Given the description of an element on the screen output the (x, y) to click on. 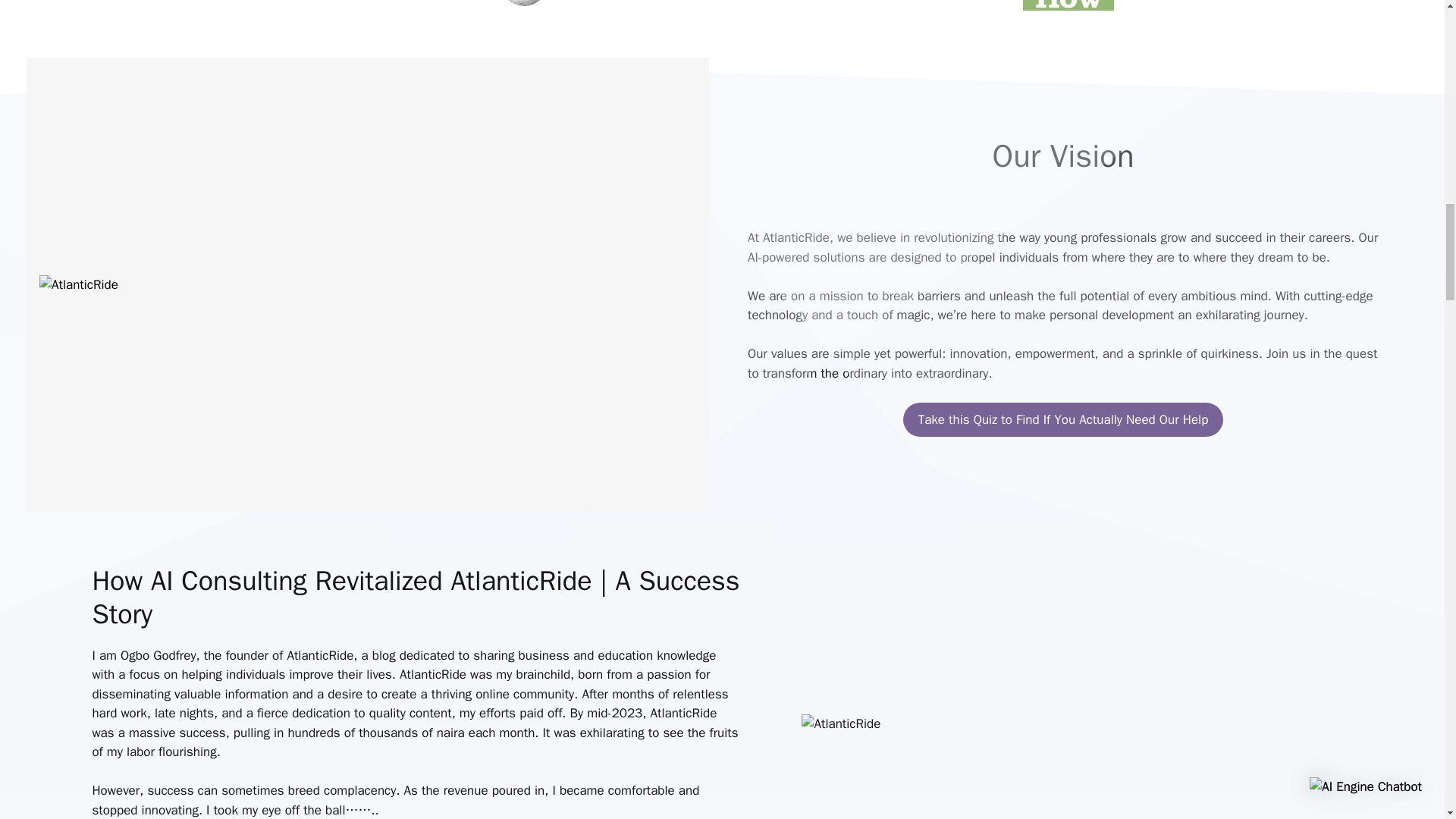
Home 6 (1067, 5)
Home 8 (841, 723)
Home 7 (78, 284)
Take this Quiz to Find If You Actually Need Our Help (1063, 419)
Home 3 (549, 6)
